Given the description of an element on the screen output the (x, y) to click on. 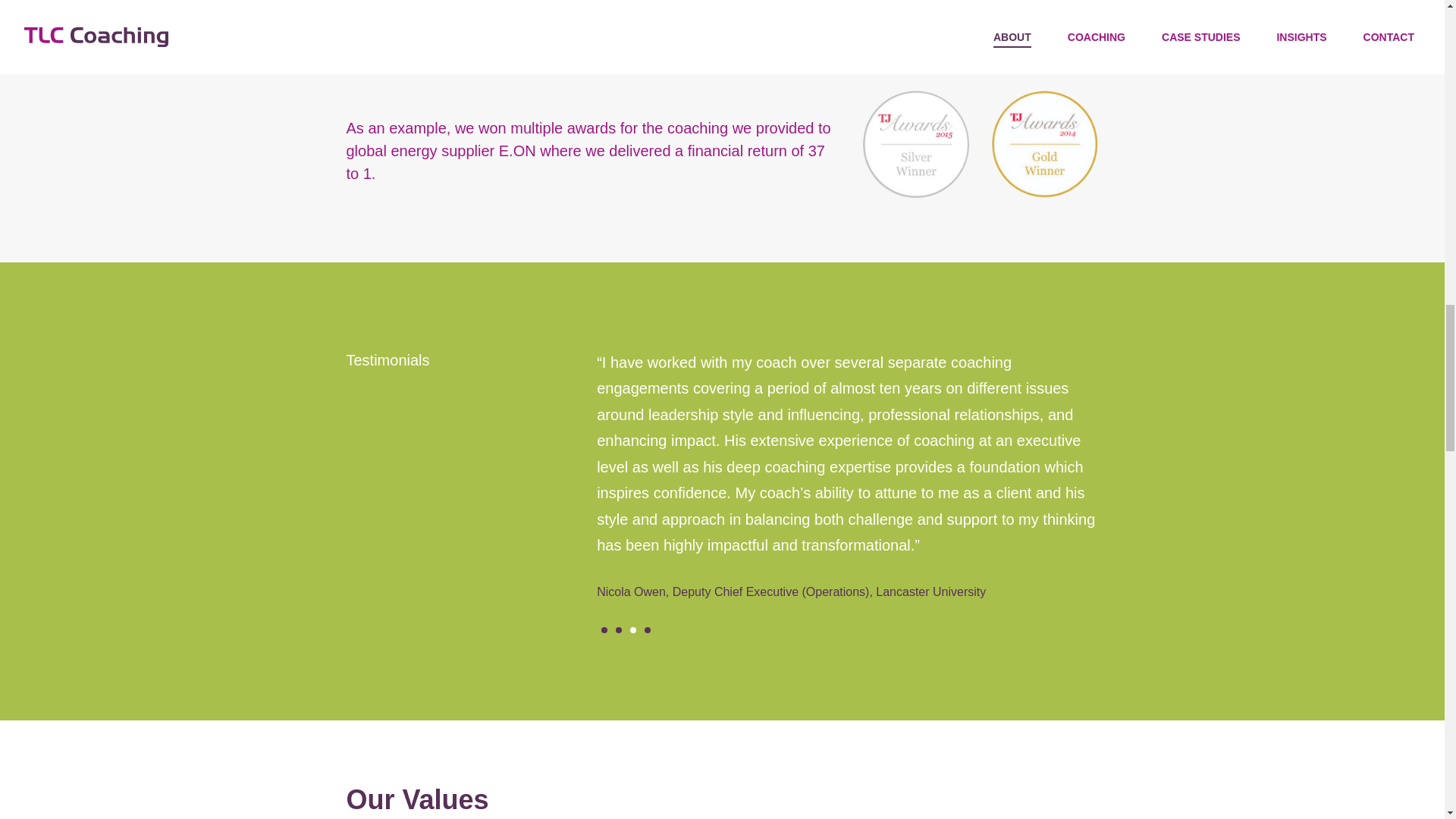
tj-awards-2014 (1044, 143)
tj-awards-2015 (916, 143)
